Given the description of an element on the screen output the (x, y) to click on. 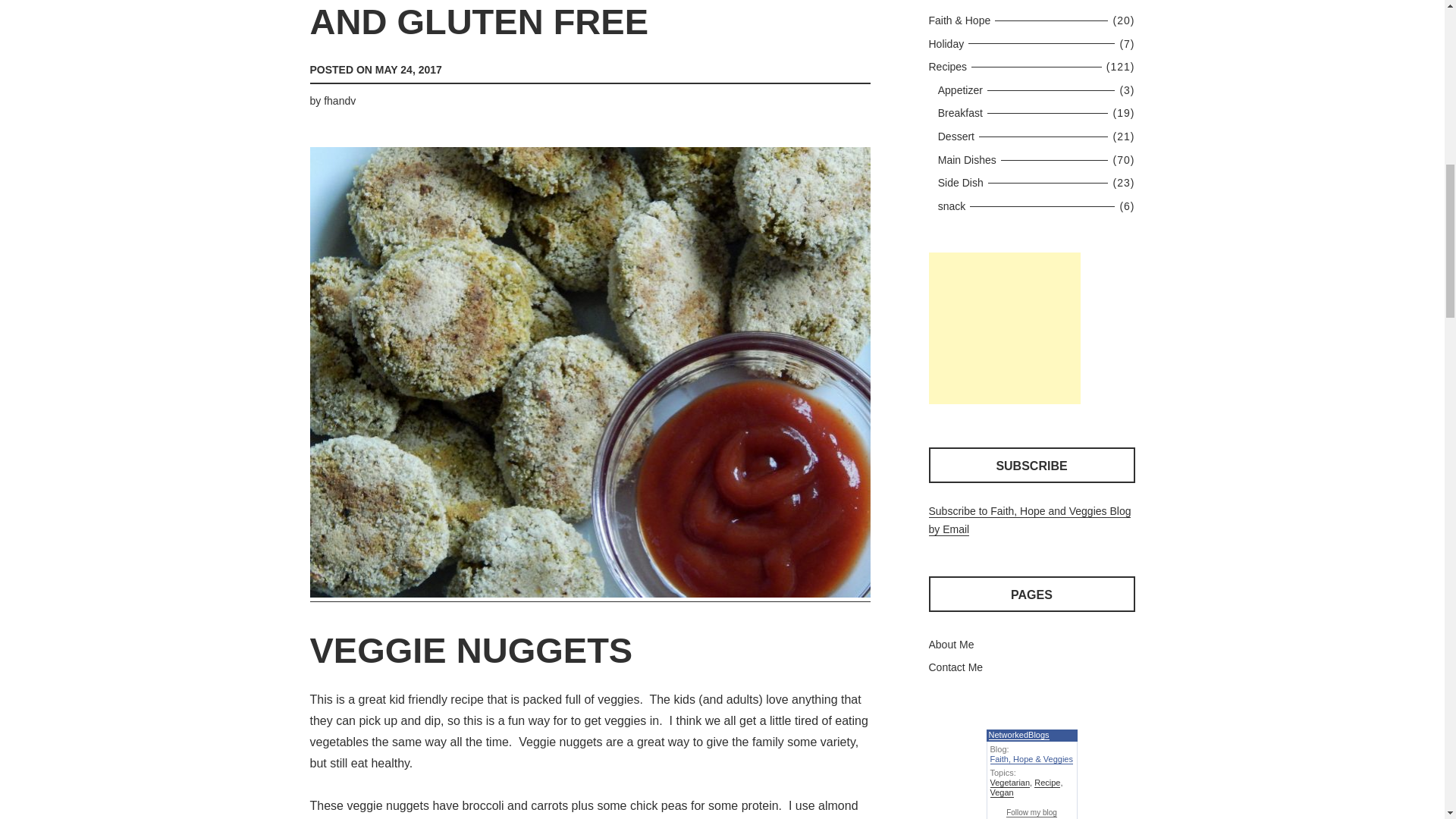
Vegetarian (1010, 782)
Advertisement (1004, 328)
Holiday (948, 43)
Subscribe to Faith, Hope and Veggies Blog by Email (1029, 521)
Recipes (949, 66)
Breakfast (962, 112)
Follow my blog (1031, 812)
Side Dish (962, 182)
Appetizer (962, 90)
Contact Me (955, 666)
Vegan (1001, 792)
Vegan Recipes (949, 66)
Recipe (1046, 782)
MAY 24, 2017 (408, 69)
fhandv (339, 101)
